Given the description of an element on the screen output the (x, y) to click on. 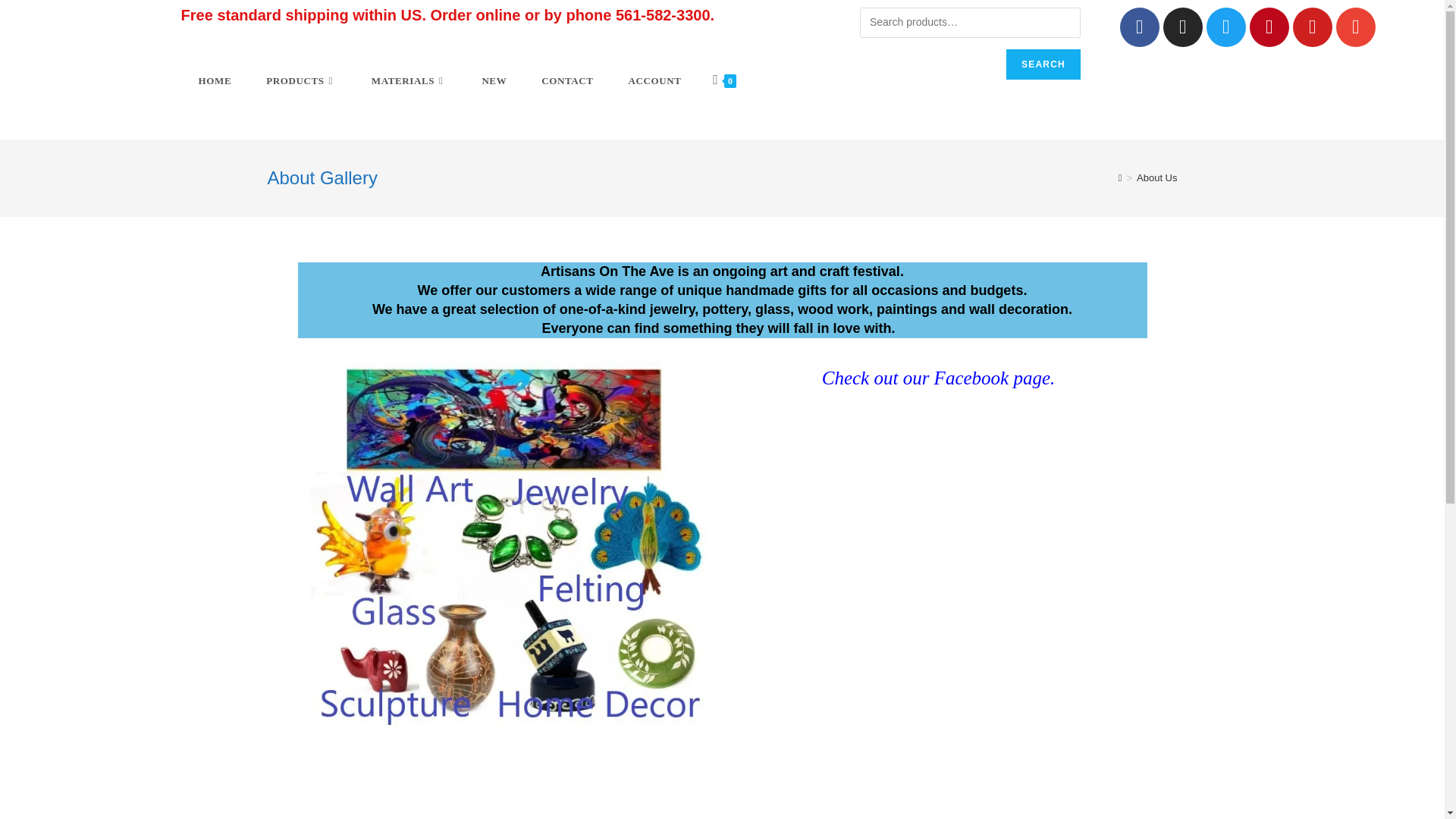
PRODUCTS (300, 80)
HOME (214, 80)
